Given the description of an element on the screen output the (x, y) to click on. 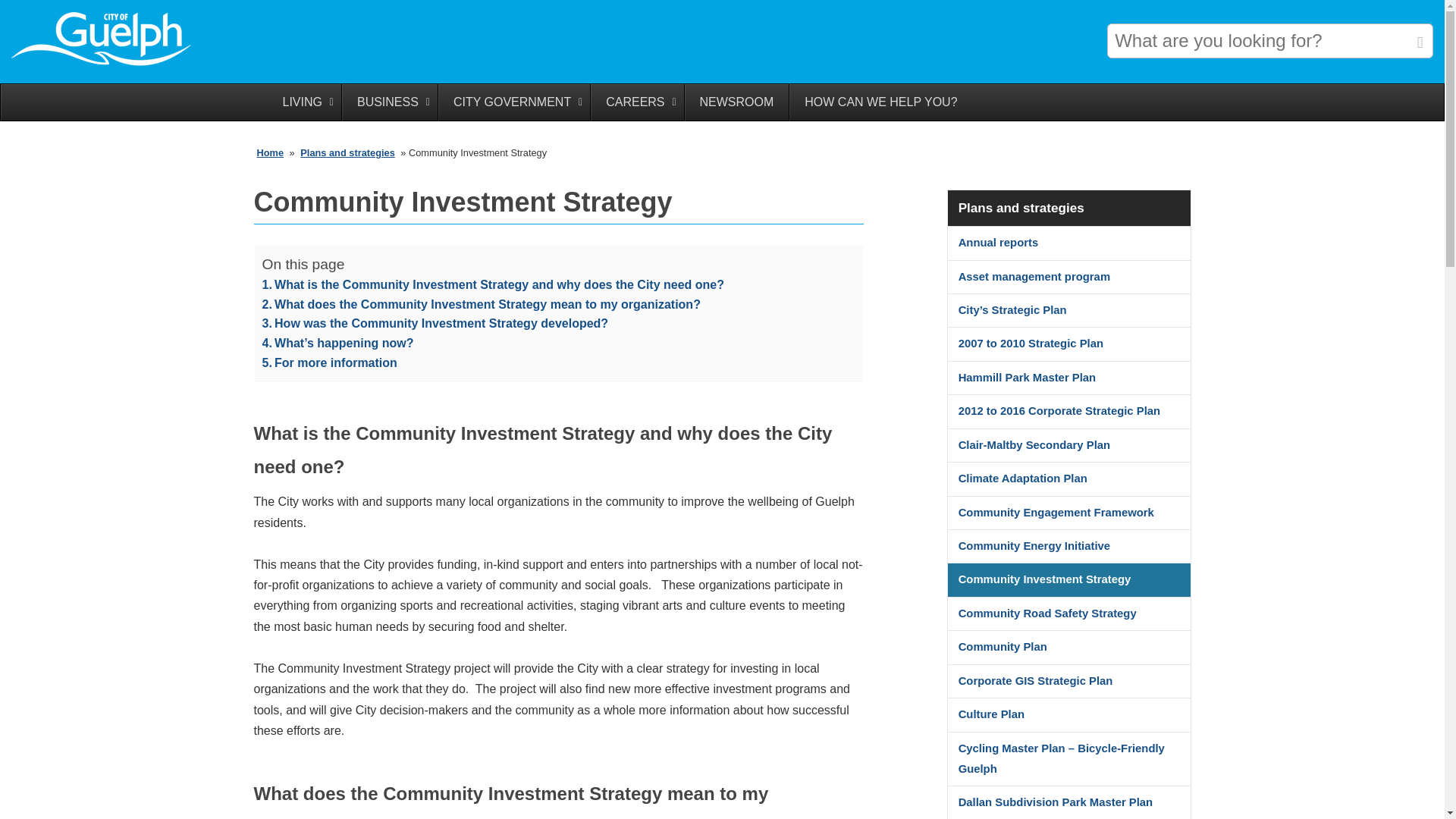
City of Guelph (105, 64)
LIVING (303, 102)
How was the Community Investment Strategy developed? (435, 323)
For more information (329, 362)
